Given the description of an element on the screen output the (x, y) to click on. 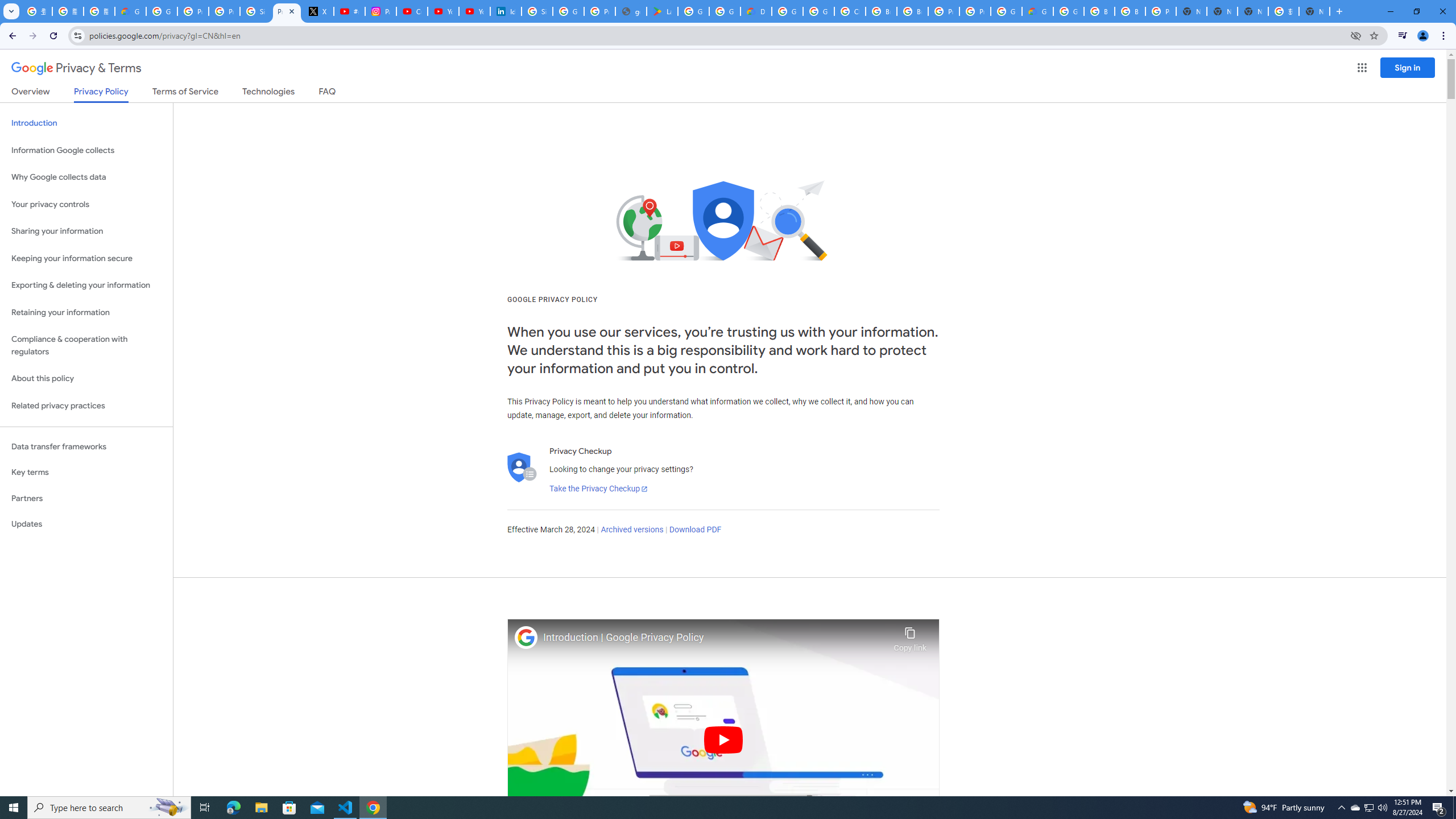
Your privacy controls (86, 204)
About this policy (86, 379)
Last Shelter: Survival - Apps on Google Play (662, 11)
Introduction | Google Privacy Policy (715, 637)
Retaining your information (86, 312)
Compliance & cooperation with regulators (86, 345)
google_privacy_policy_en.pdf (631, 11)
New Tab (1190, 11)
